Given the description of an element on the screen output the (x, y) to click on. 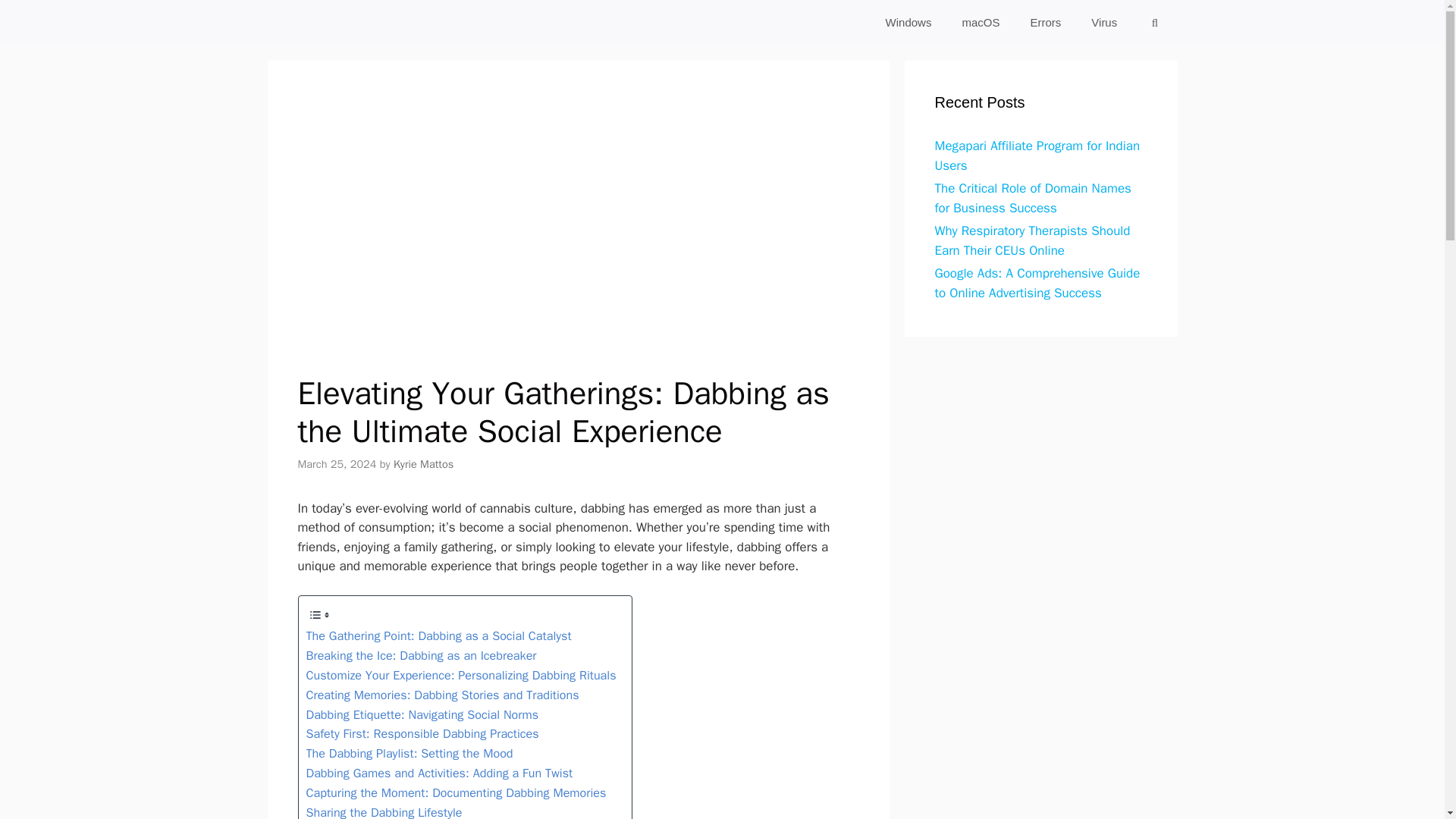
Creating Memories: Dabbing Stories and Traditions (442, 695)
Virus (1103, 22)
The Critical Role of Domain Names for Business Success (1032, 198)
Why Respiratory Therapists Should Earn Their CEUs Online (1031, 240)
Windows (908, 22)
macOS (980, 22)
Customize Your Experience: Personalizing Dabbing Rituals (460, 675)
GetWox (345, 22)
Dabbing Games and Activities: Adding a Fun Twist (439, 772)
